Given the description of an element on the screen output the (x, y) to click on. 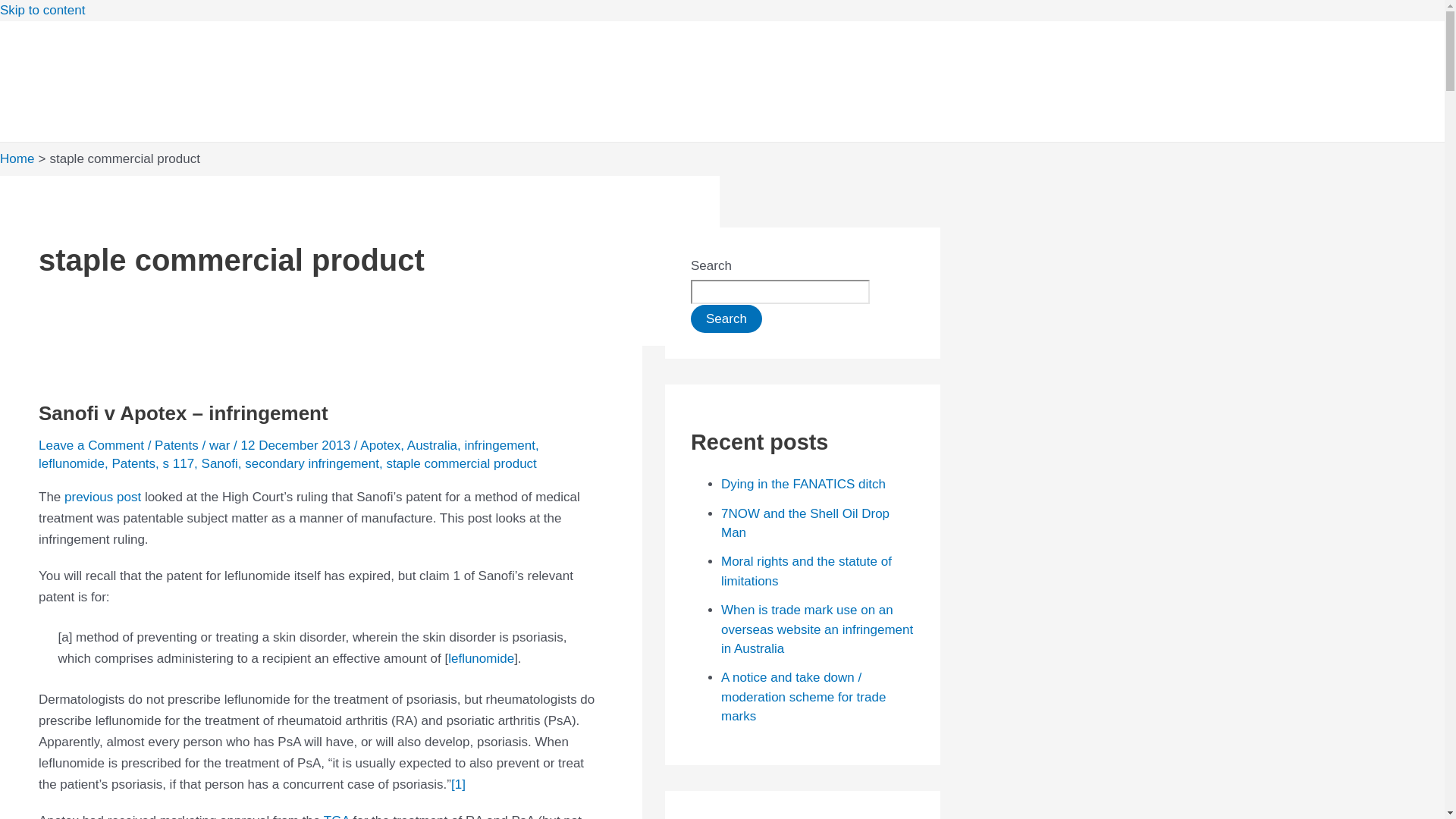
Home (16, 158)
staple commercial product (460, 463)
leflunomide (480, 658)
View all posts by war (220, 445)
war (220, 445)
leflunomide (71, 463)
Skip to content (42, 10)
Patents (133, 463)
Sanofi (220, 463)
secondary infringement (311, 463)
